Given the description of an element on the screen output the (x, y) to click on. 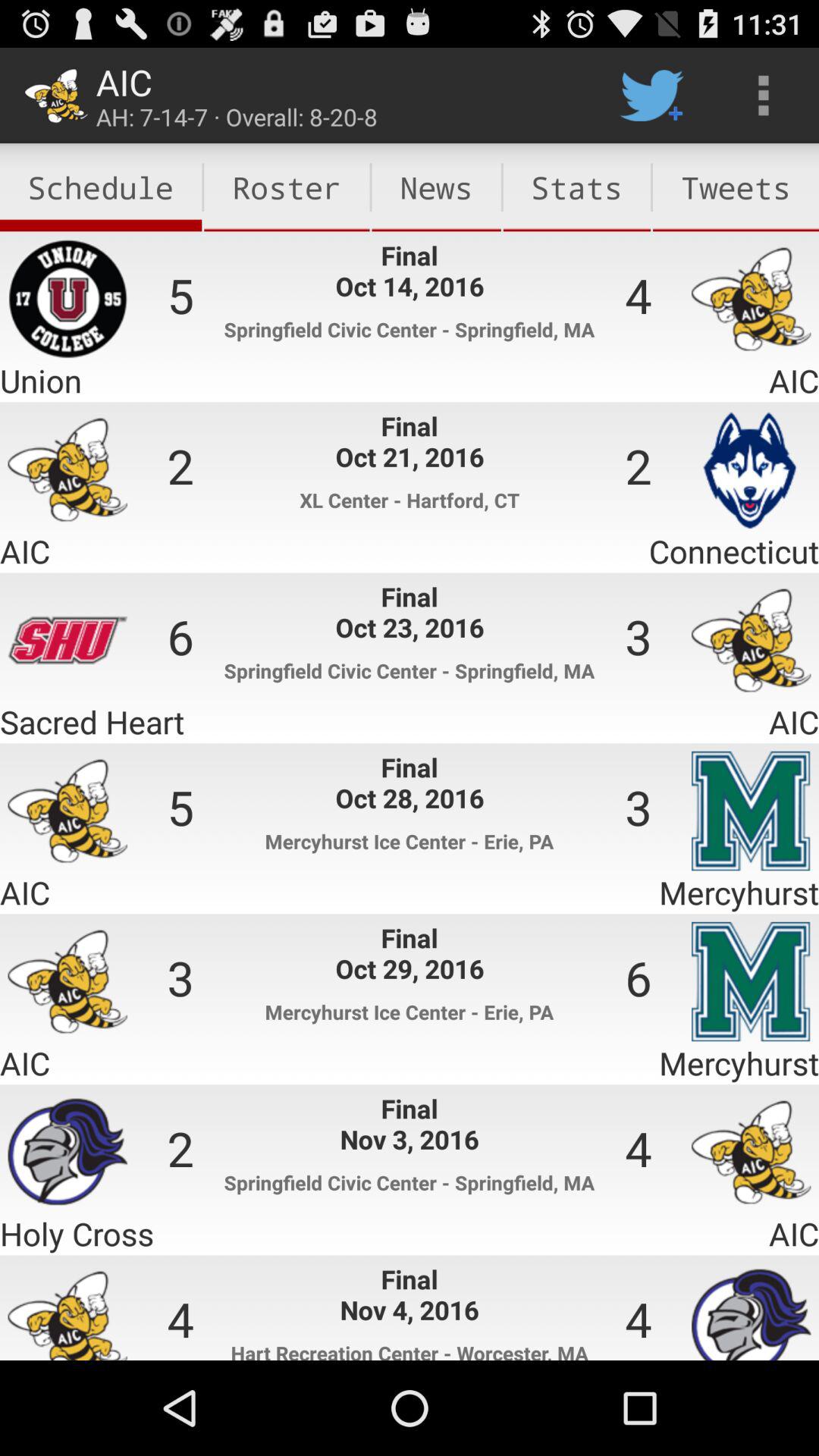
choose icon to the right of schedule icon (286, 187)
